Given the description of an element on the screen output the (x, y) to click on. 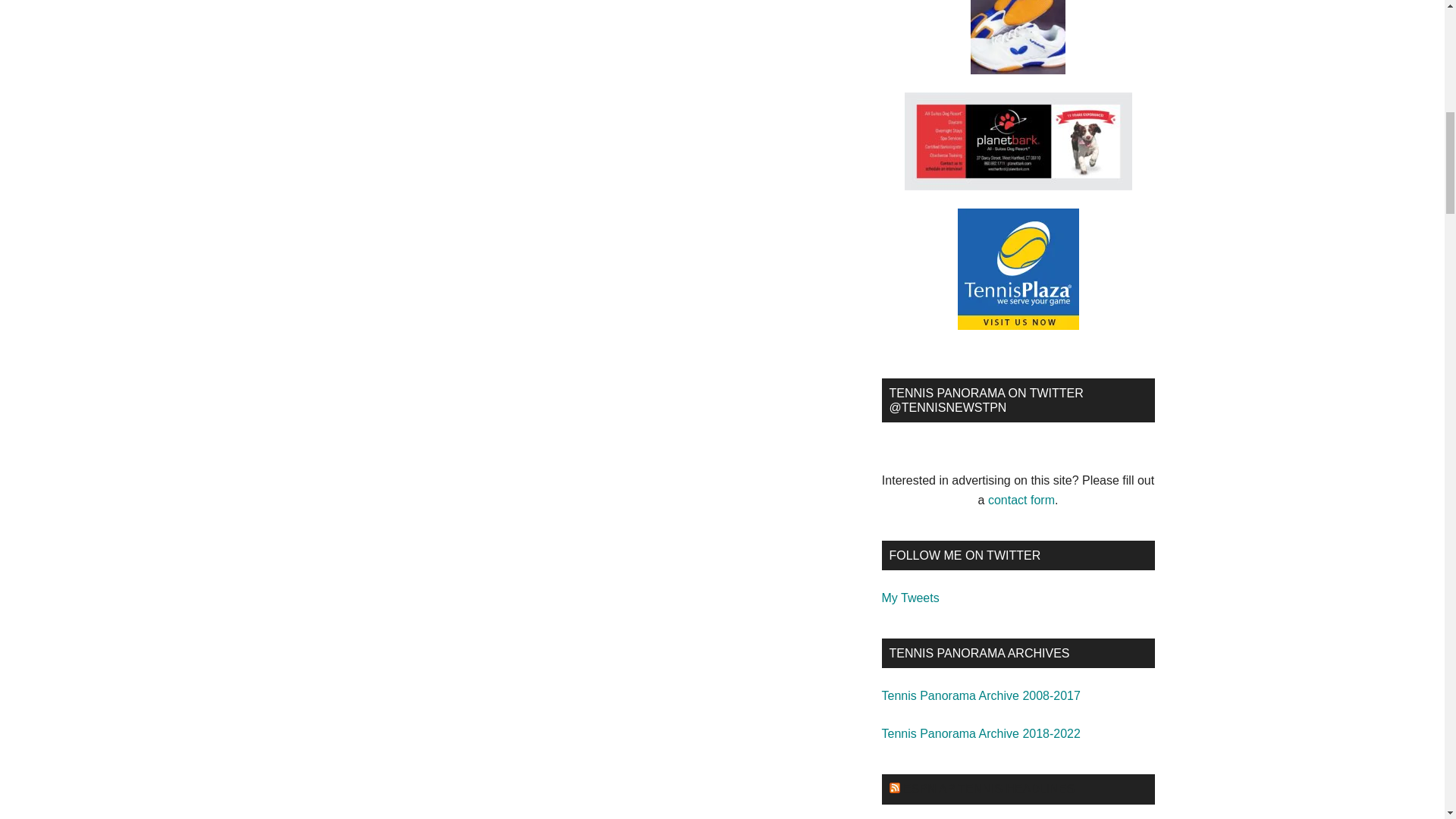
ESPN AP TENNIS HEADLINES (988, 788)
7 (1077, 695)
My Tweets (909, 597)
2 (1077, 733)
Tennis Panorama Archive 2018-202 (977, 733)
contact form (1021, 499)
Tennis Panorama Archive 2008-201 (977, 695)
